Given the description of an element on the screen output the (x, y) to click on. 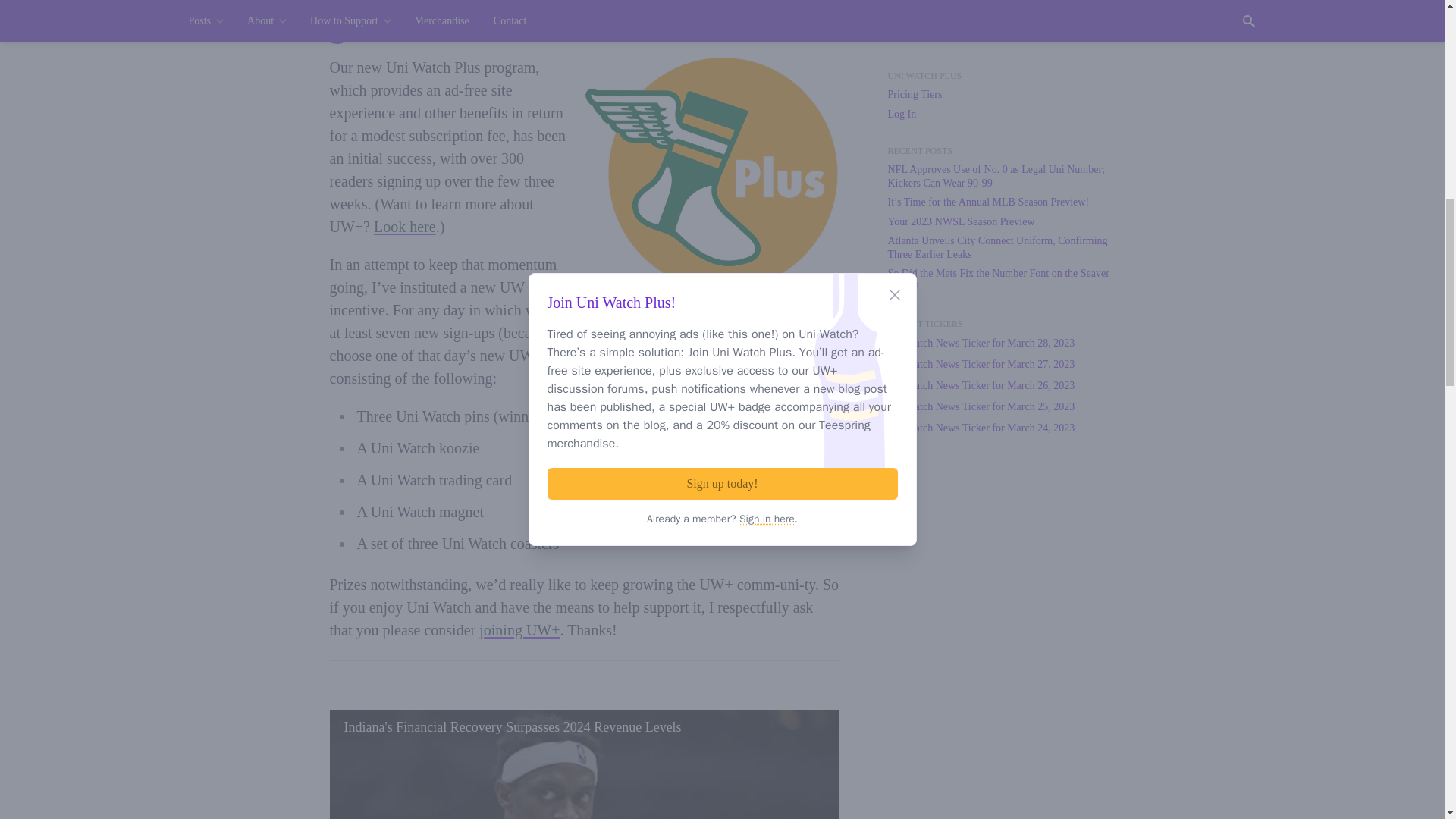
Share on Twitter (796, 23)
Share on Facebook (768, 23)
